Given the description of an element on the screen output the (x, y) to click on. 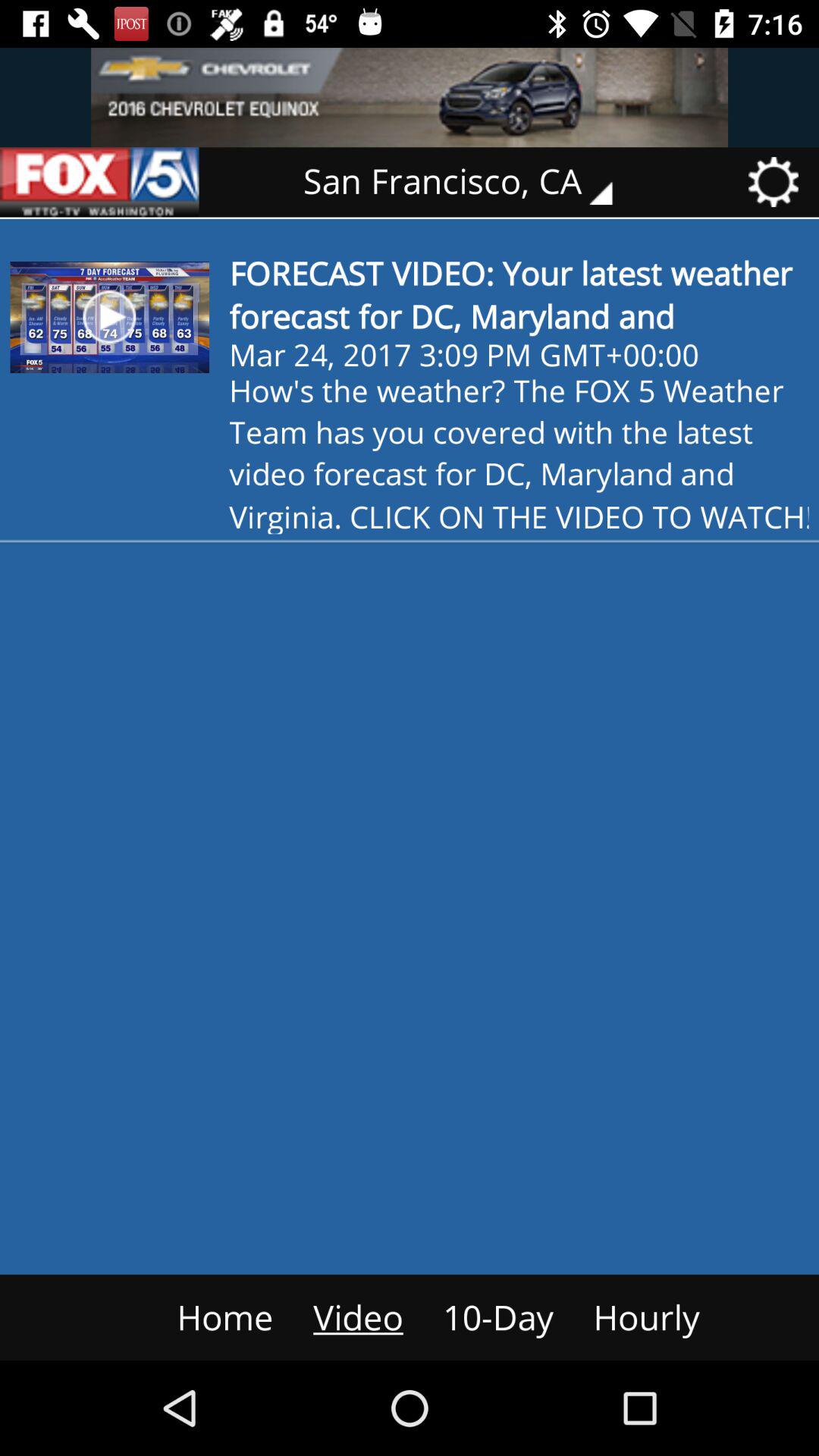
fox 5 logo (99, 182)
